Given the description of an element on the screen output the (x, y) to click on. 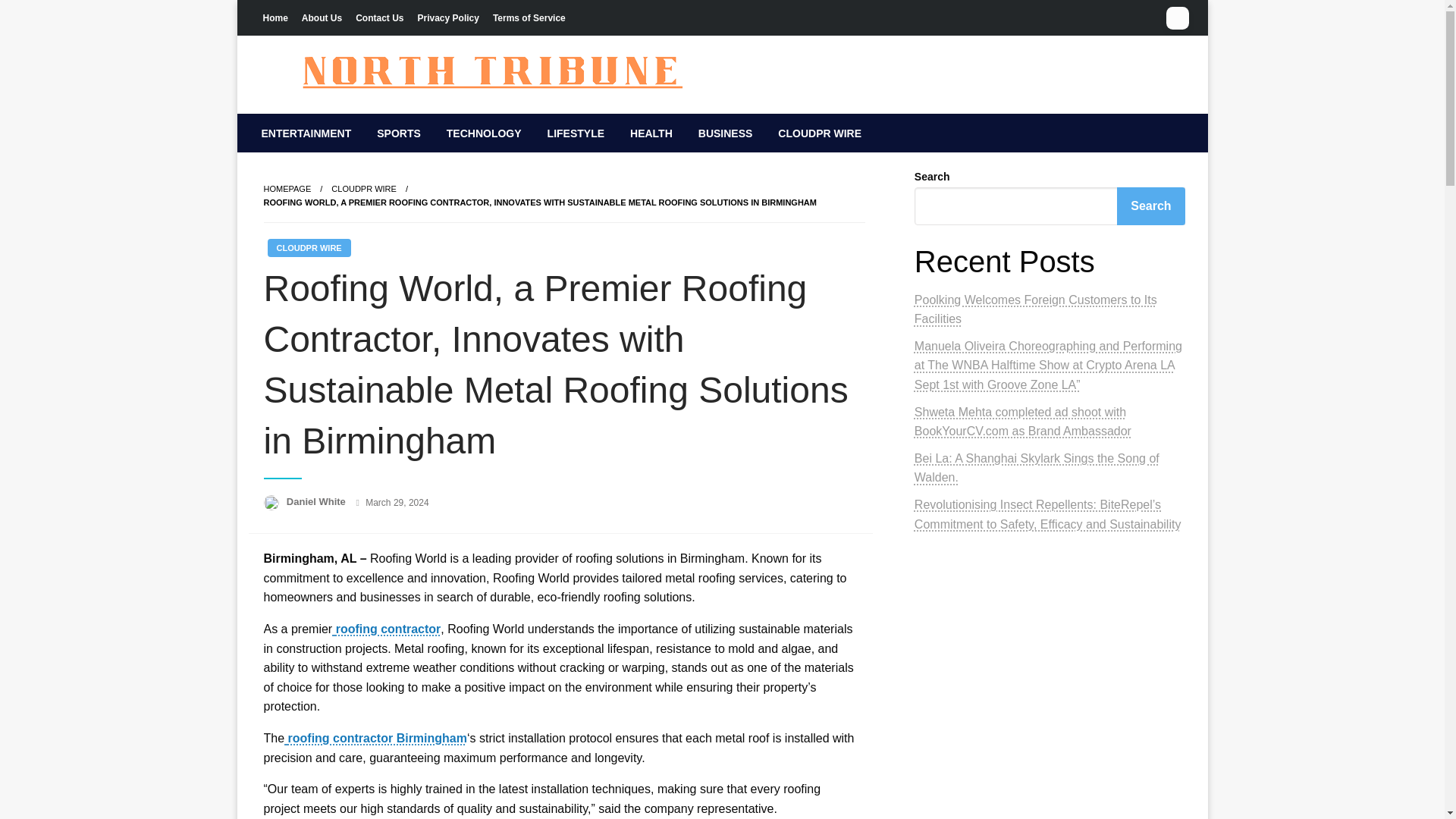
ENTERTAINMENT (306, 133)
LIFESTYLE (575, 133)
roofing contractor Birmingham (375, 738)
Contact Us (379, 17)
Daniel White (317, 501)
Home (275, 17)
March 29, 2024 (396, 502)
CLOUDPR WIRE (363, 188)
Privacy Policy (448, 17)
HOMEPAGE (287, 188)
Homepage (287, 188)
BUSINESS (725, 133)
North Tribune (354, 125)
CLOUDPR WIRE (308, 248)
About Us (322, 17)
